Given the description of an element on the screen output the (x, y) to click on. 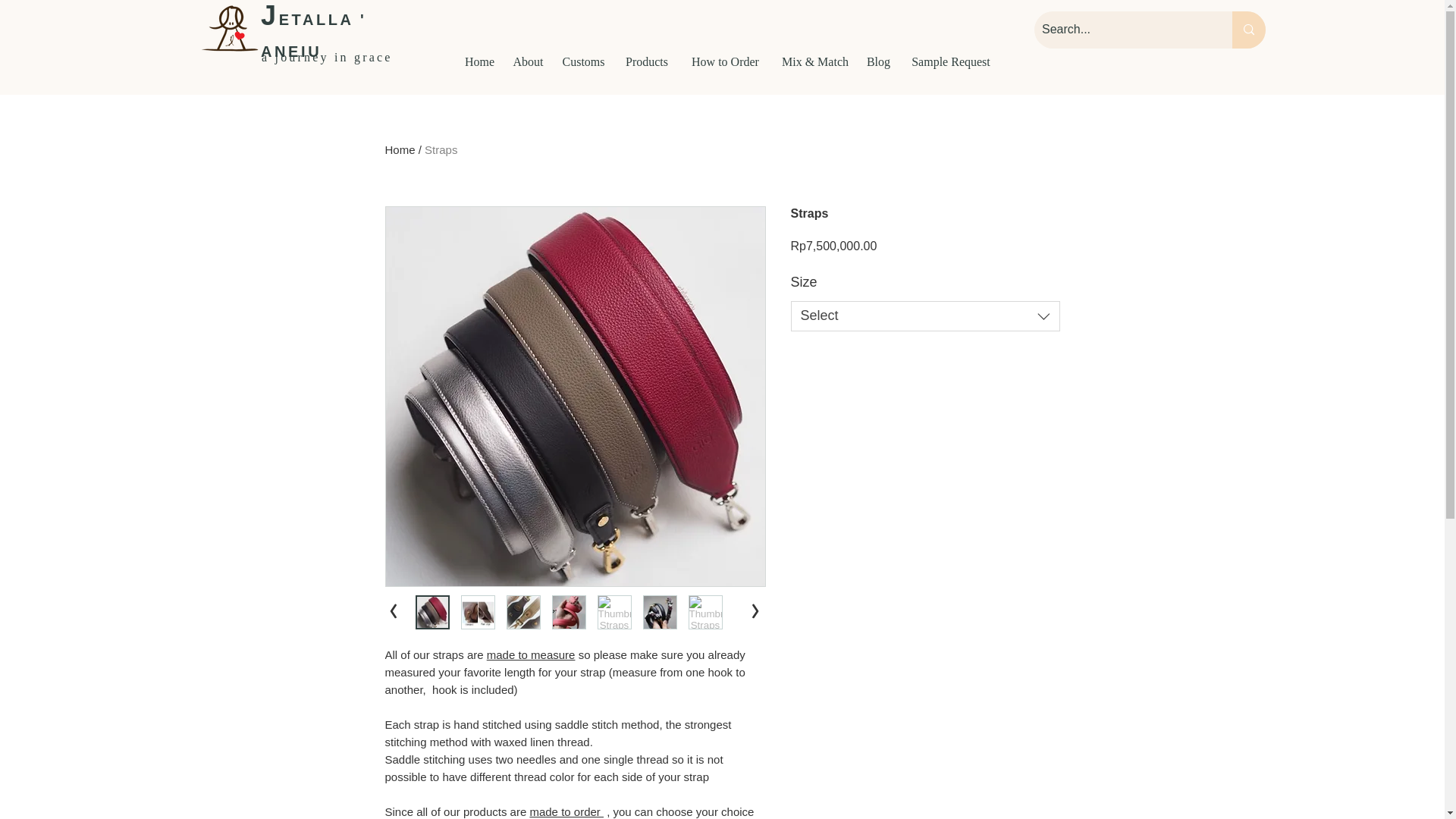
Select (924, 316)
How to Order (724, 61)
Blog (878, 61)
JETALLA ' ANEIU (313, 31)
Home (399, 149)
Straps (441, 149)
About (527, 61)
Home (478, 61)
Sample Request (950, 61)
